Given the description of an element on the screen output the (x, y) to click on. 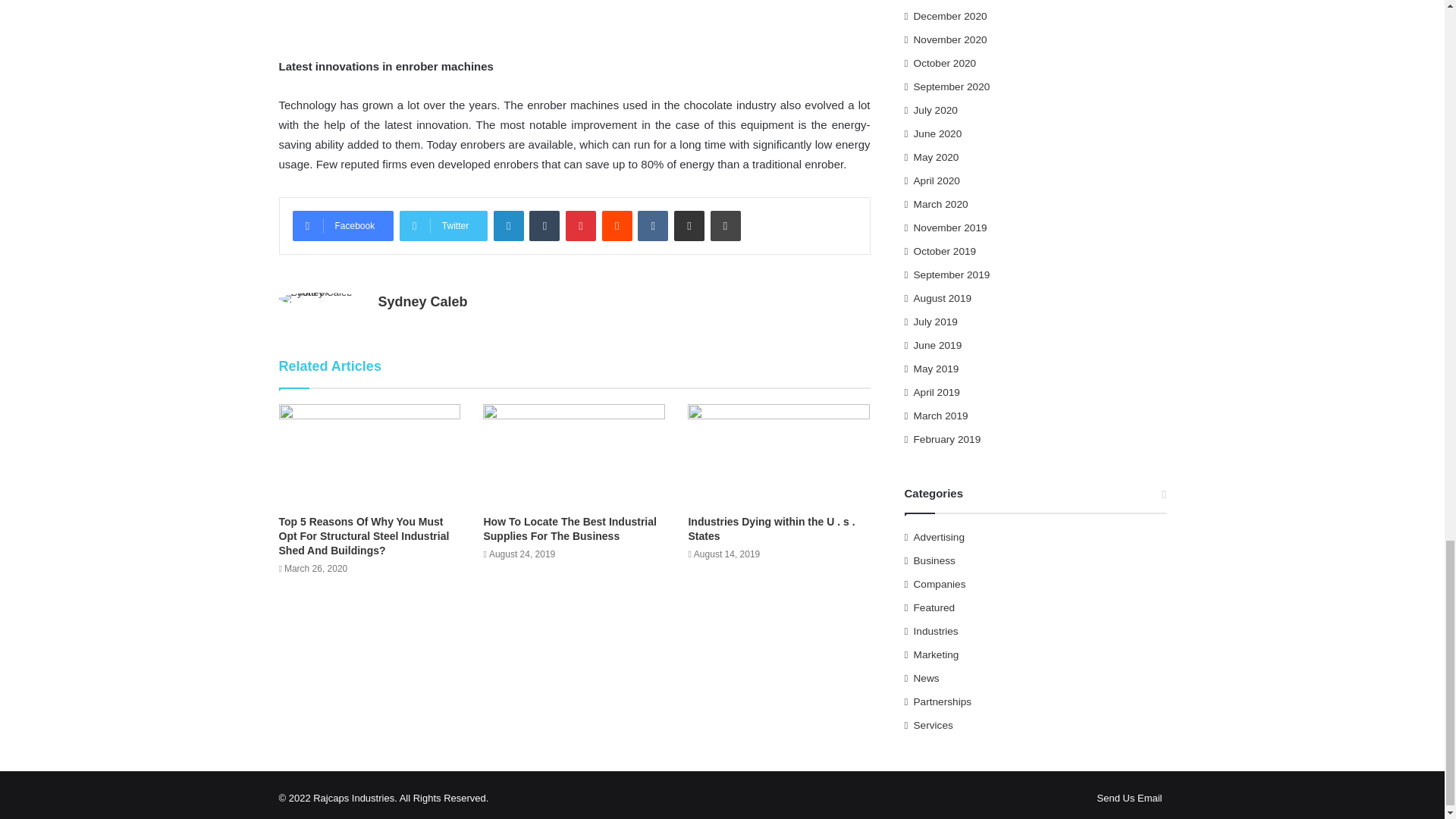
Twitter (442, 225)
Share via Email (689, 225)
Reddit (616, 225)
Pinterest (580, 225)
Tumblr (544, 225)
LinkedIn (508, 225)
Twitter (442, 225)
VKontakte (652, 225)
Facebook (343, 225)
LinkedIn (508, 225)
Tumblr (544, 225)
Facebook (343, 225)
VKontakte (652, 225)
Pinterest (580, 225)
Share via Email (689, 225)
